Given the description of an element on the screen output the (x, y) to click on. 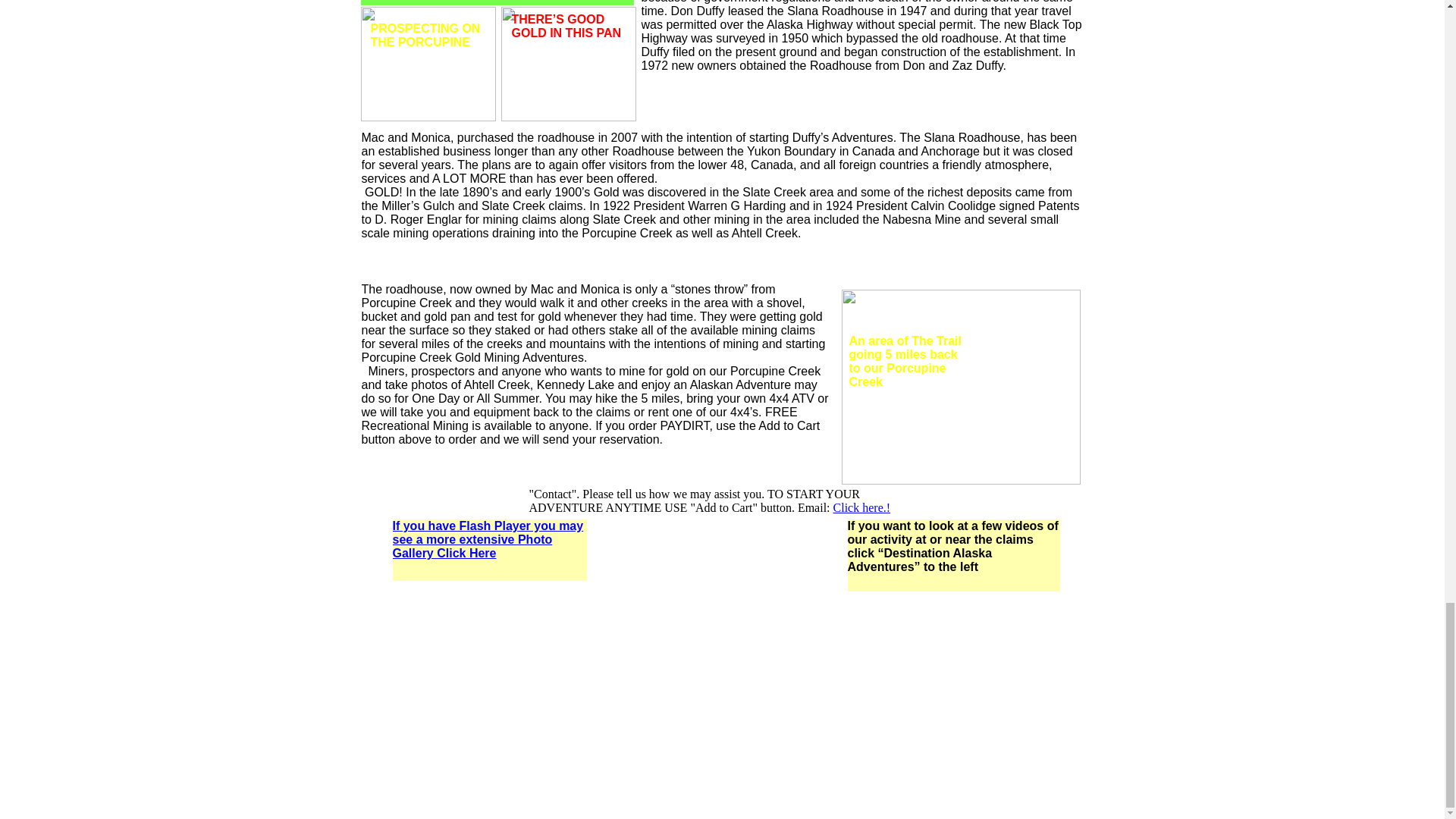
Click here.! (861, 507)
